Given the description of an element on the screen output the (x, y) to click on. 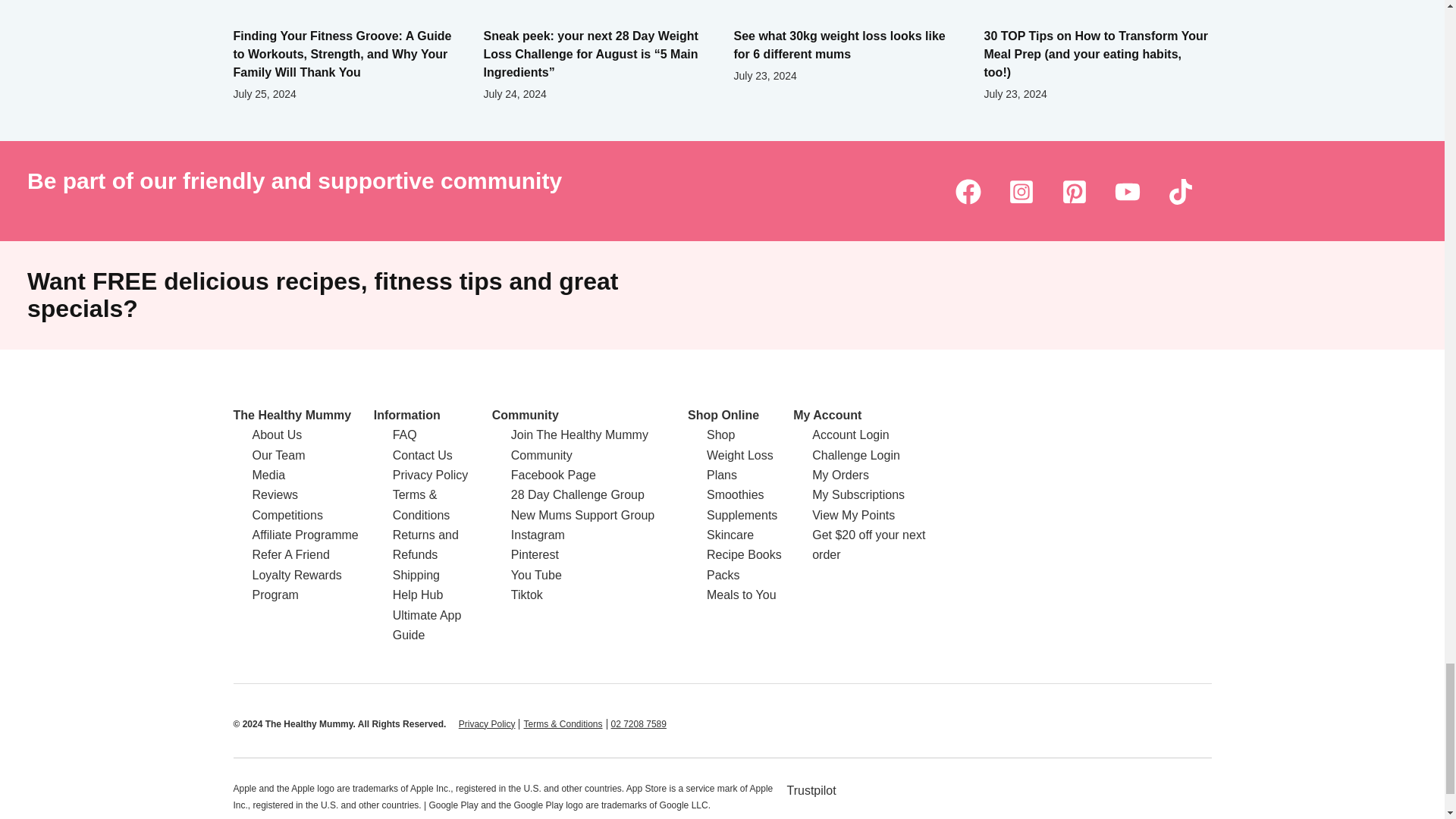
Join Our Affiliate Programme (304, 534)
Privacy Policy (486, 724)
Instagram (1020, 191)
The Healthy Mummy (292, 414)
download on apple (879, 800)
download on google play (991, 798)
TikTok (1180, 191)
Pinterest (1074, 191)
Facebook (968, 191)
You Tube (1127, 191)
